Given the description of an element on the screen output the (x, y) to click on. 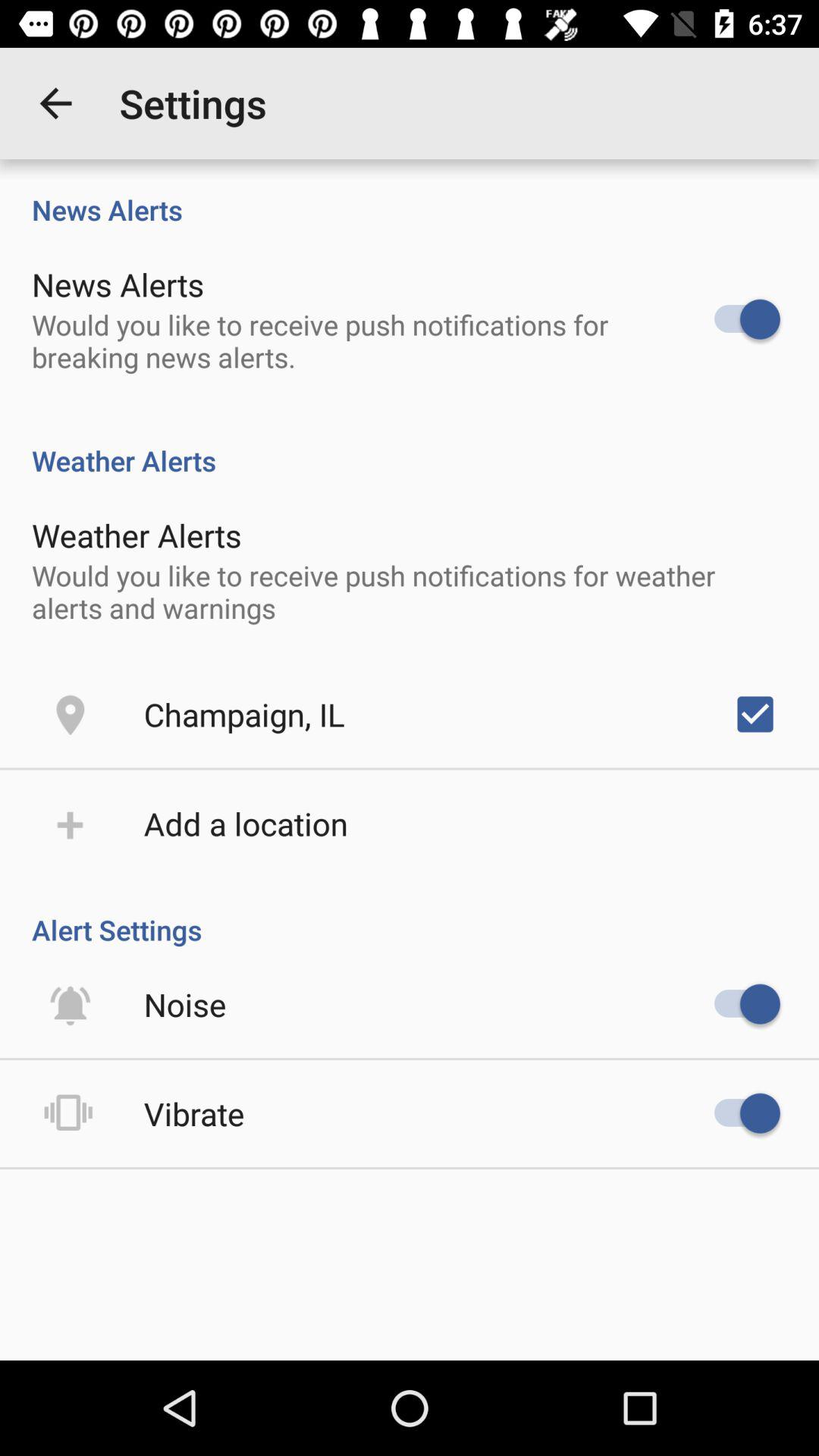
click the item below noise (193, 1113)
